Given the description of an element on the screen output the (x, y) to click on. 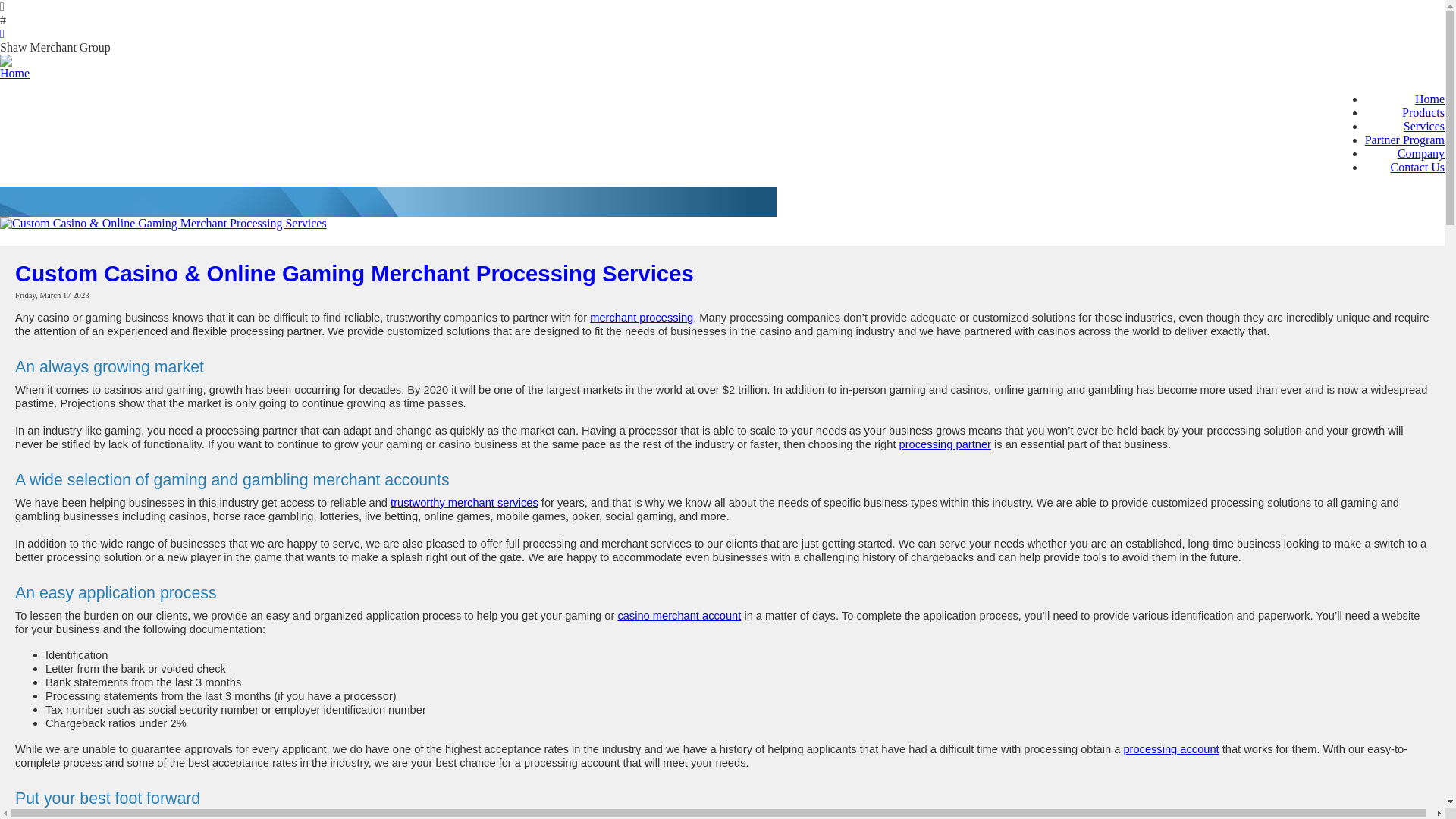
processing partner (945, 444)
Contact Us (1417, 166)
Services (1423, 125)
processing account (1170, 748)
merchant processing (641, 317)
casino merchant account (679, 615)
Products (1423, 112)
Home (1429, 98)
trustworthy merchant services (464, 502)
Partner Program (1404, 139)
Company (1420, 153)
